Given the description of an element on the screen output the (x, y) to click on. 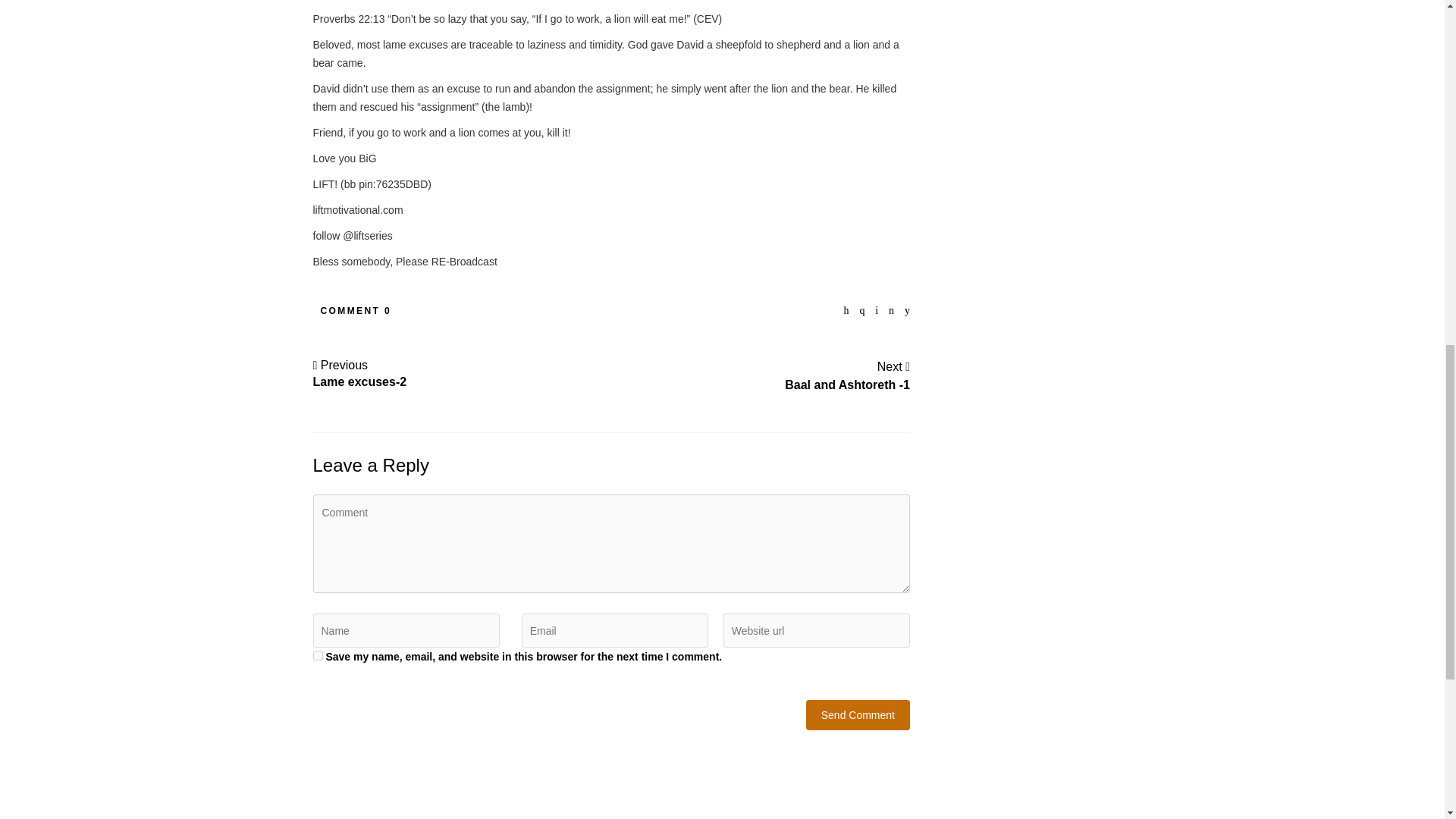
yes (317, 655)
Send Comment (847, 375)
Send Comment (858, 715)
COMMENT 0 (858, 715)
